Given the description of an element on the screen output the (x, y) to click on. 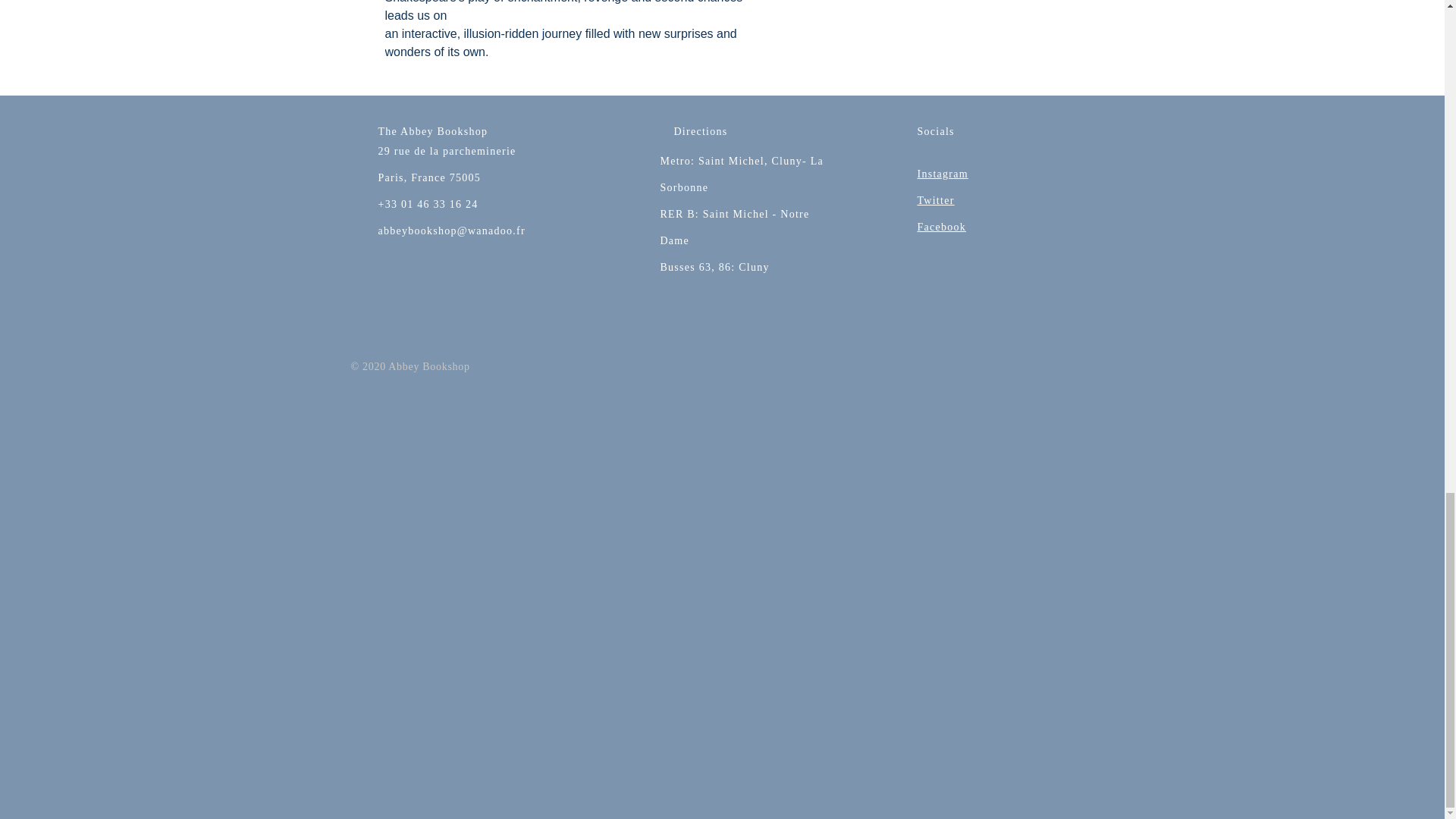
Twitter (936, 200)
Metro: Saint Michel, Cluny- La Sorbonne (741, 174)
RER B: Saint Michel - Notre Dame  (734, 227)
Instagram (942, 173)
Facebook (941, 226)
Busses 63, 86: Cluny (713, 266)
